Given the description of an element on the screen output the (x, y) to click on. 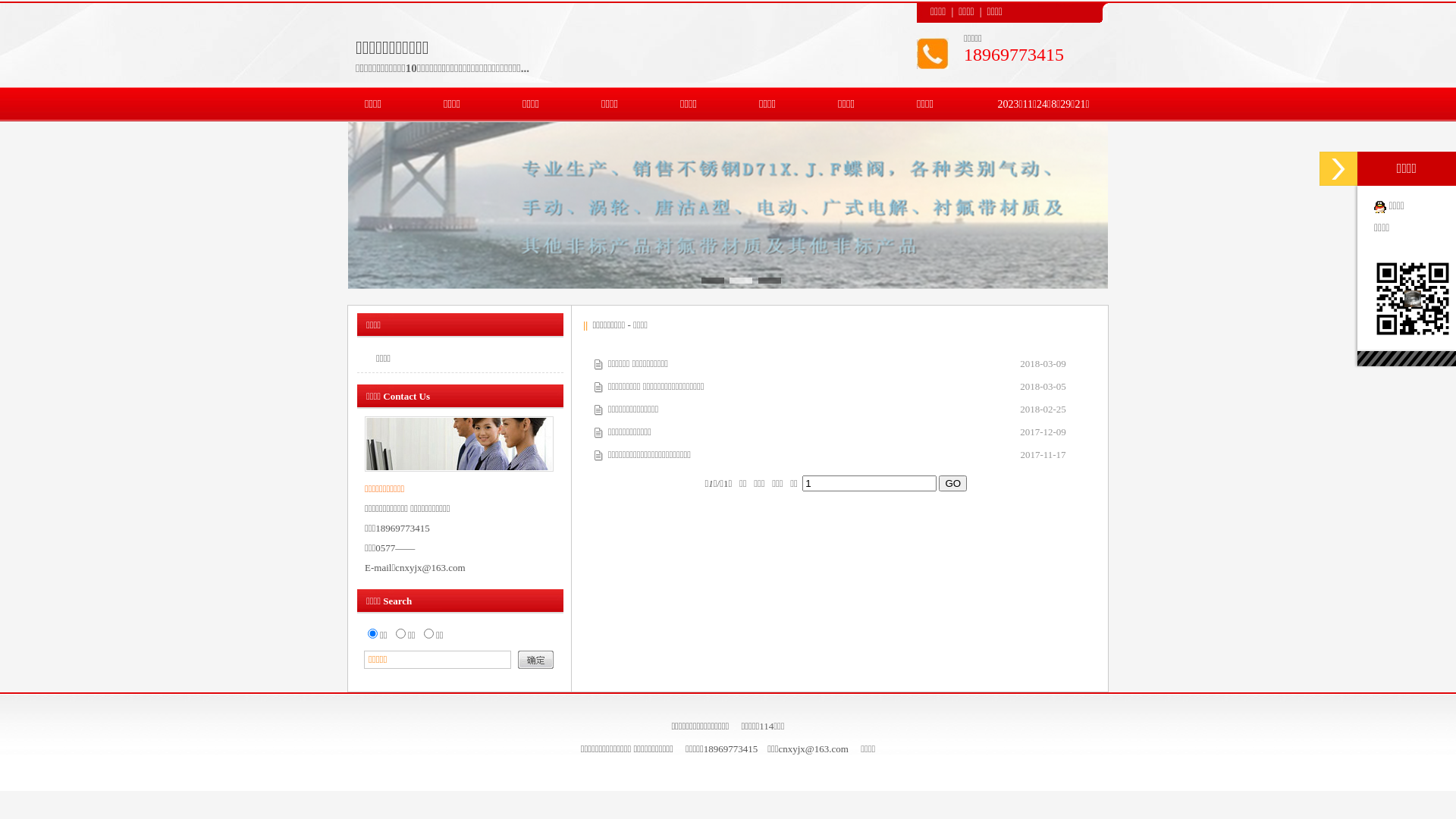
GO Element type: text (952, 482)
